Given the description of an element on the screen output the (x, y) to click on. 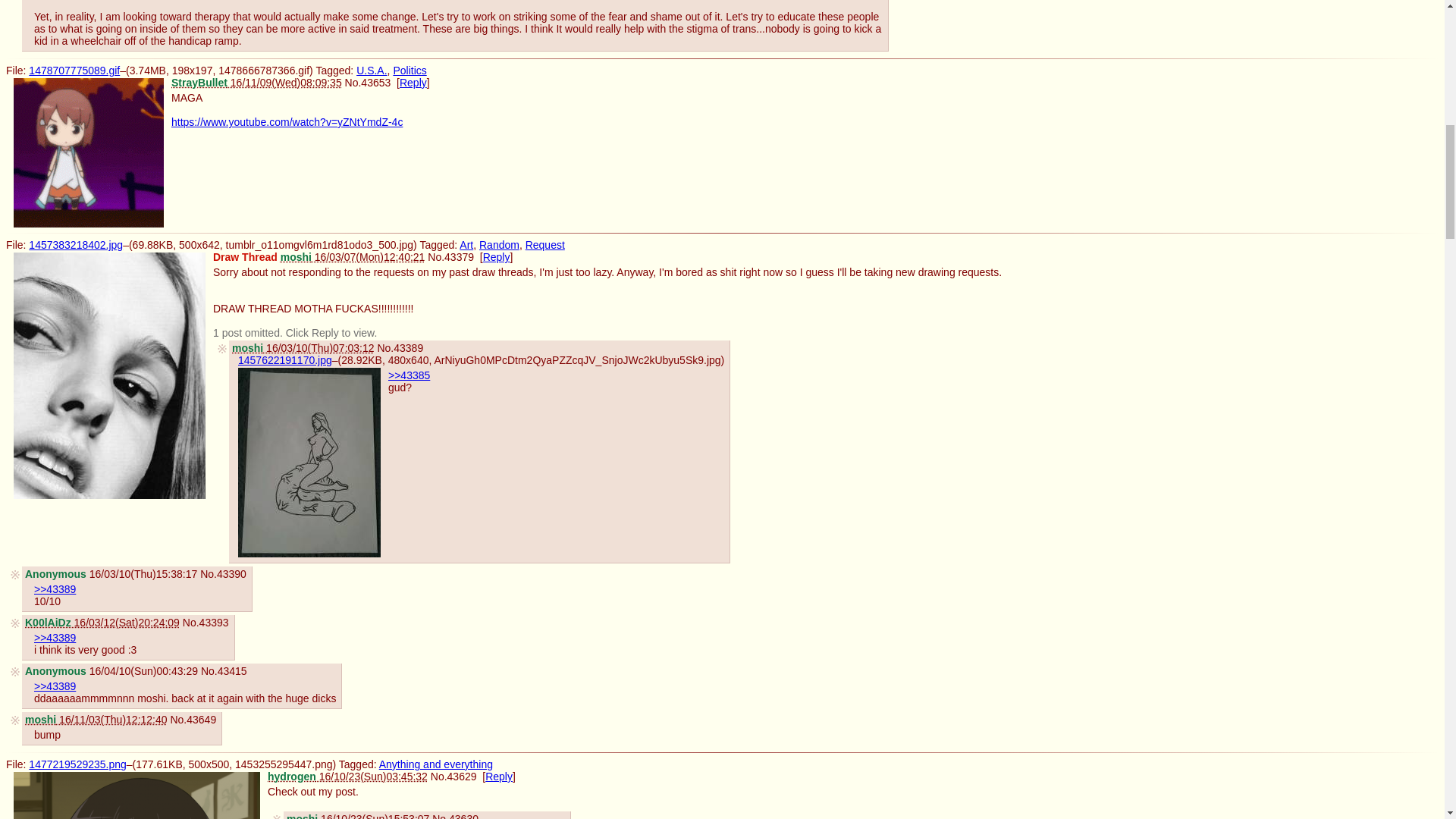
Registered 10 years, 8 months, 12 days ago (347, 776)
Registered 10 years, 7 months, 24 days ago (95, 719)
Registered 10 years, 7 months, 27 days ago (256, 82)
Registered 10 years, 6 months, 26 days ago (101, 622)
Registered 10 years, 7 months, 24 days ago (302, 347)
Registered 10 years, 7 months, 24 days ago (353, 256)
Registered 10 years, 7 months, 24 days ago (357, 816)
